Given the description of an element on the screen output the (x, y) to click on. 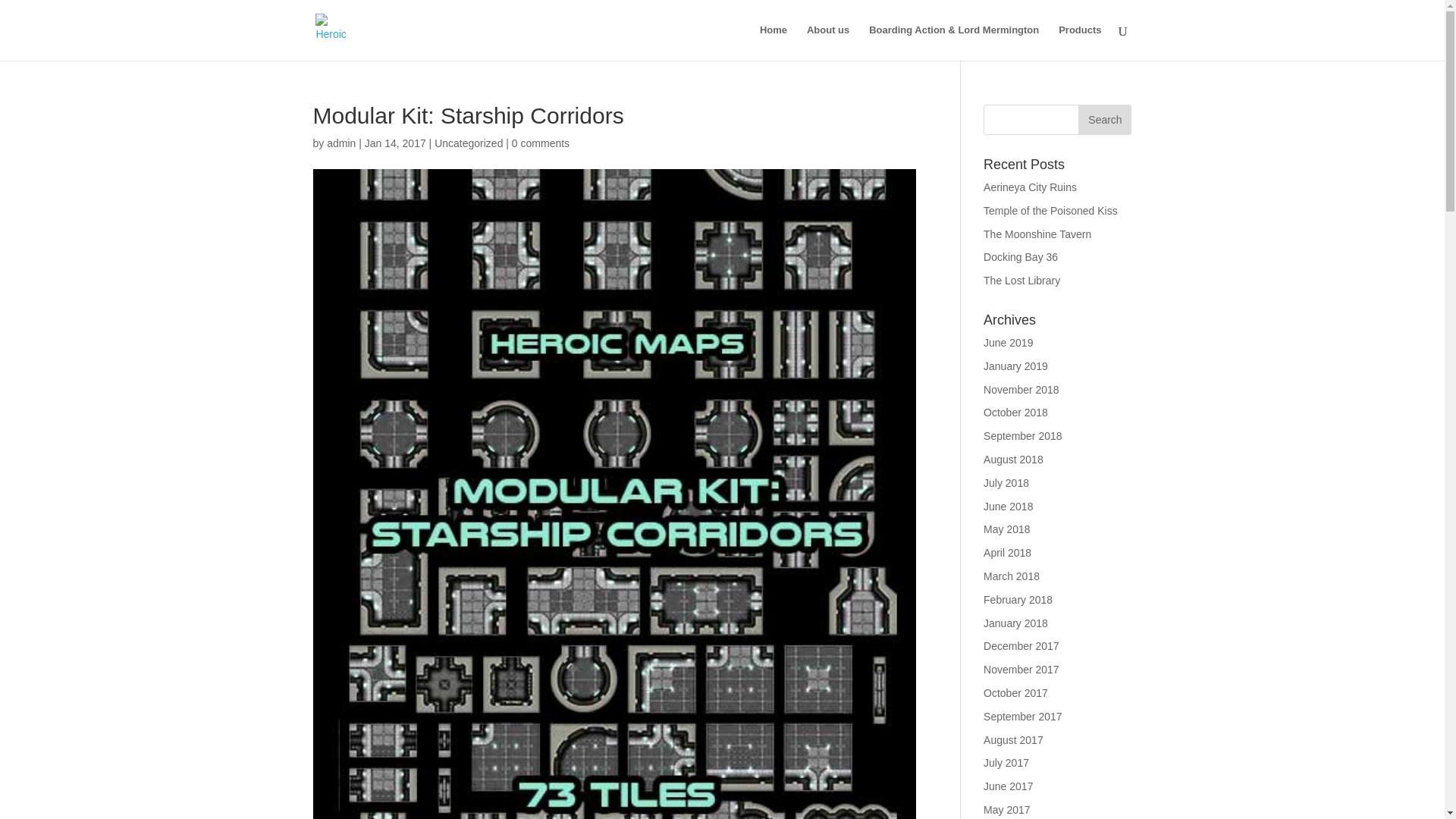
Aerineya City Ruins (1030, 186)
October 2017 (1016, 693)
July 2018 (1006, 482)
July 2017 (1006, 762)
Search (1104, 119)
August 2017 (1013, 739)
August 2018 (1013, 459)
September 2017 (1023, 716)
Products (1079, 42)
June 2017 (1008, 786)
admin (340, 143)
September 2018 (1023, 435)
January 2018 (1016, 623)
May 2018 (1006, 529)
April 2018 (1007, 552)
